Given the description of an element on the screen output the (x, y) to click on. 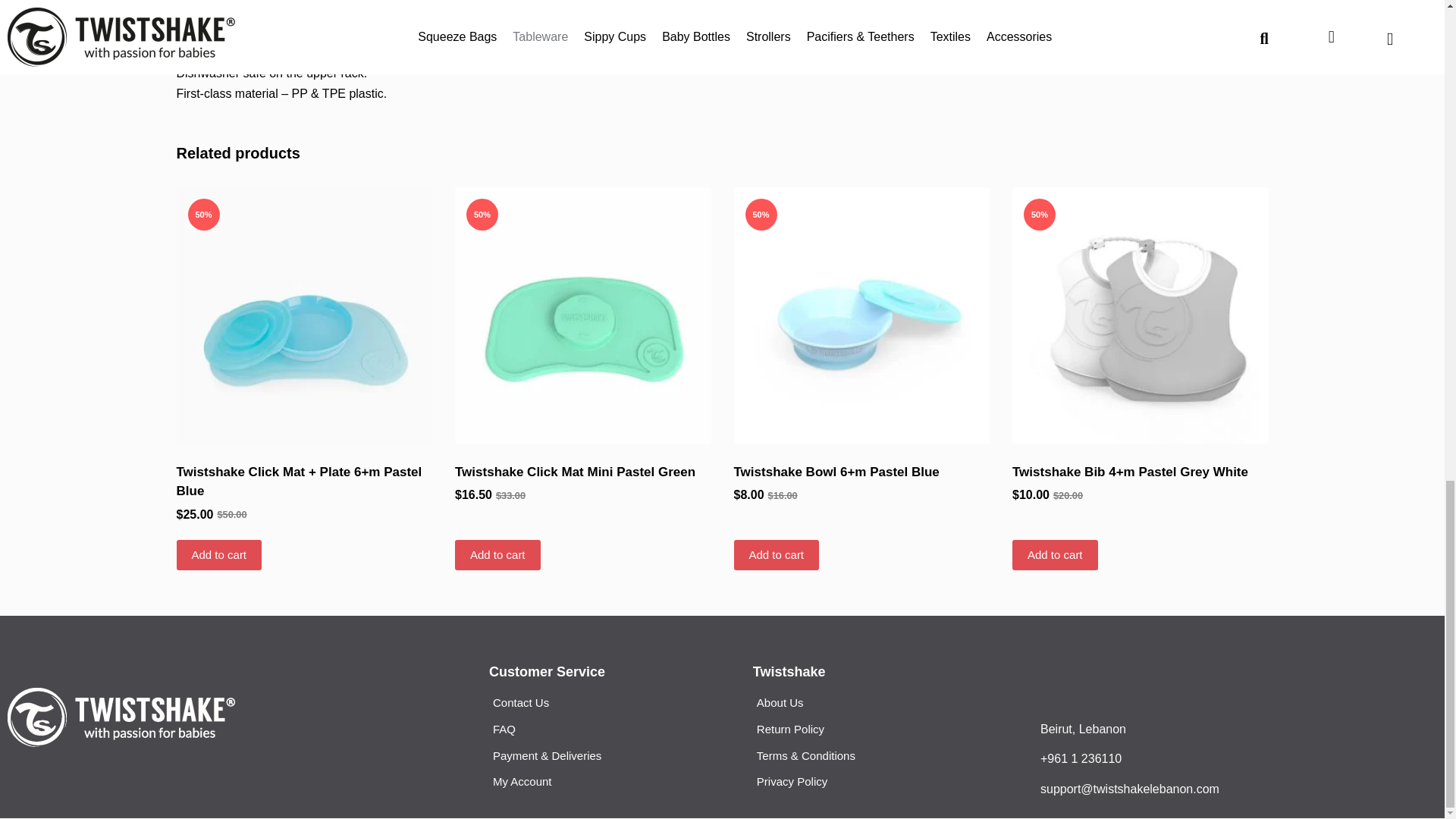
78335 (582, 315)
78597 (1139, 315)
78150 (861, 315)
